Given the description of an element on the screen output the (x, y) to click on. 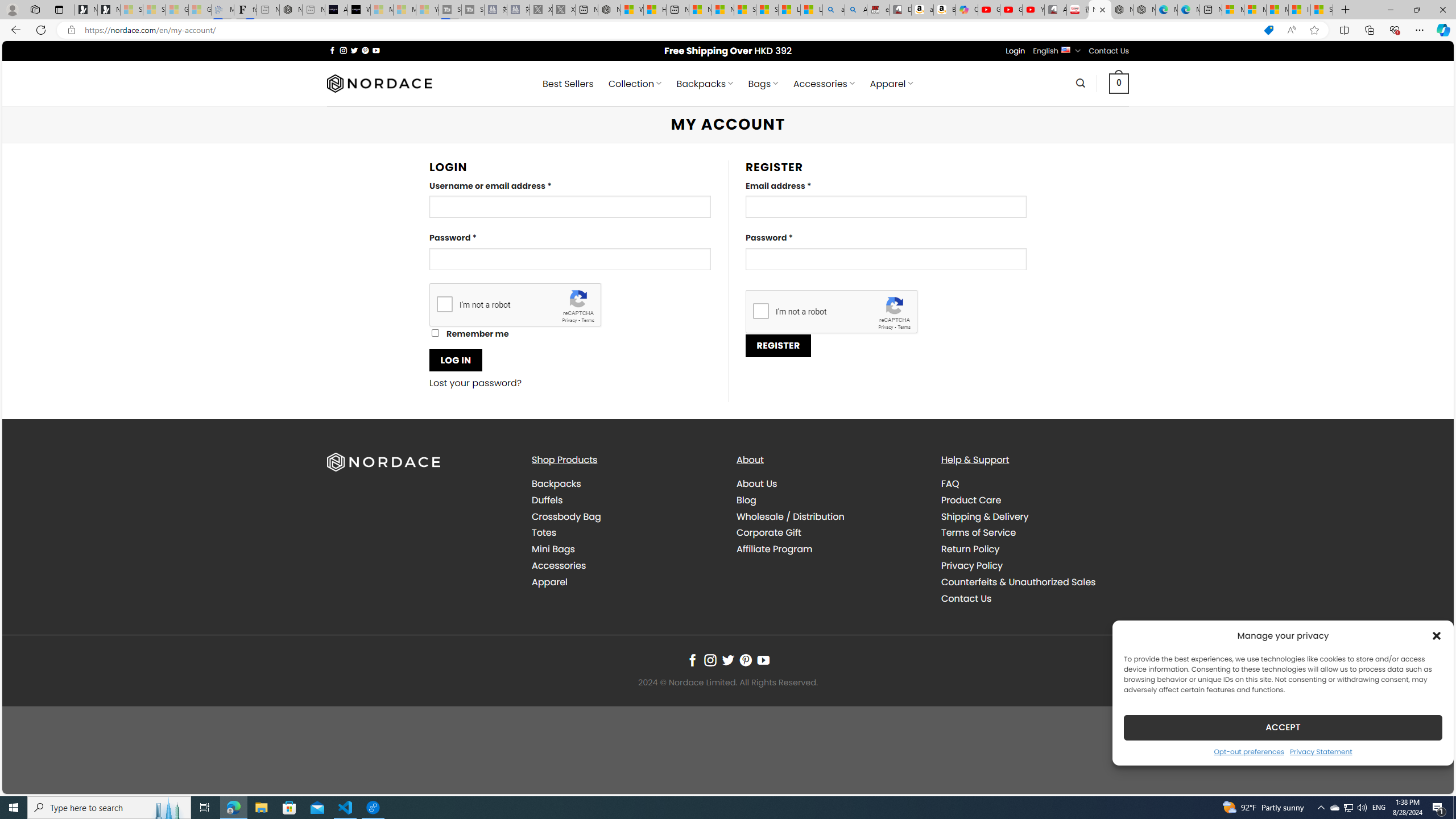
Affiliate Program (774, 549)
Apparel (549, 581)
Backpacks (555, 483)
About Us (756, 483)
Terms of Service (1034, 532)
